Given the description of an element on the screen output the (x, y) to click on. 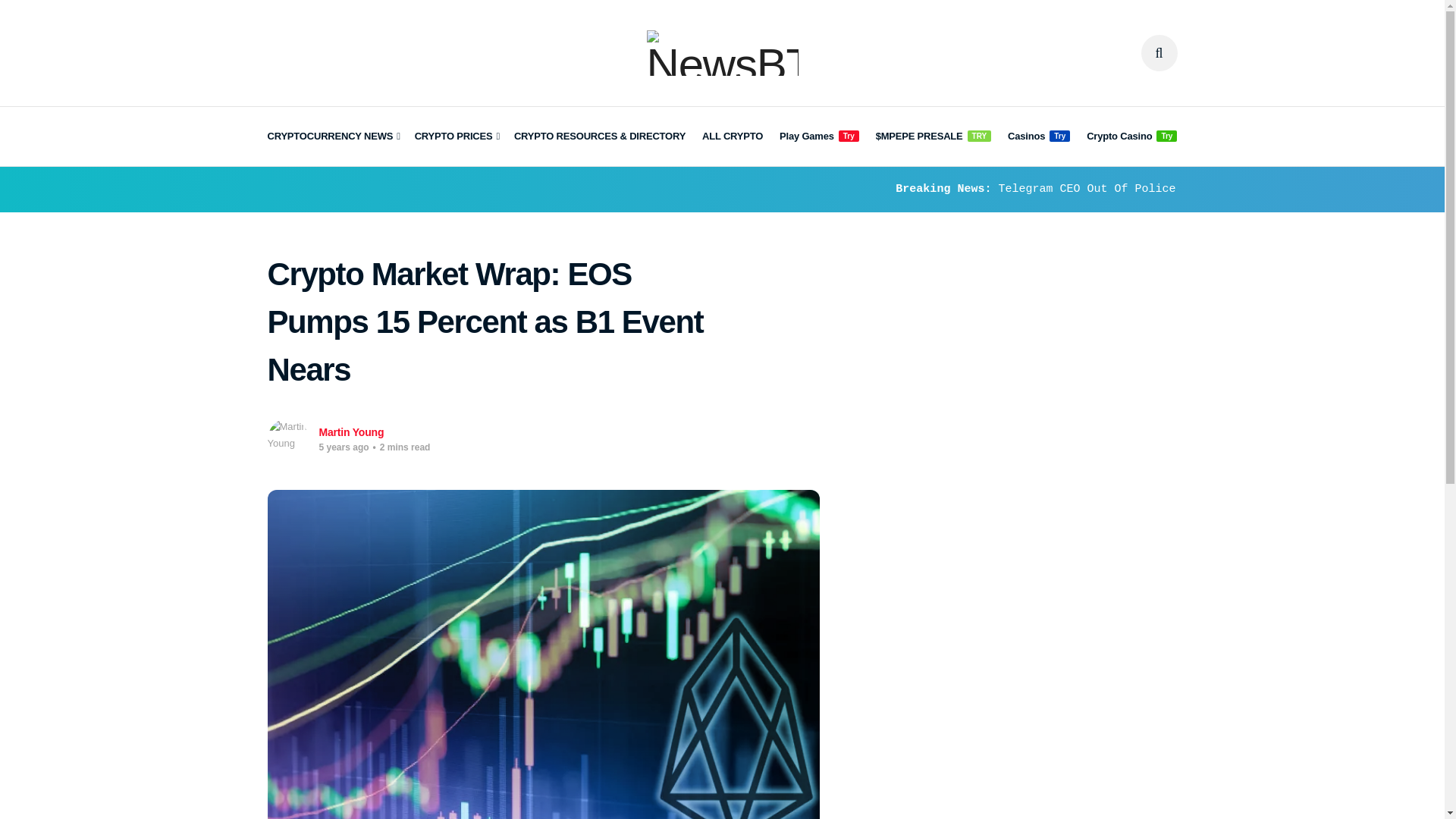
CRYPTO PRICES (455, 136)
ALL CRYPTO (731, 136)
CRYPTOCURRENCY NEWS (331, 136)
